Given the description of an element on the screen output the (x, y) to click on. 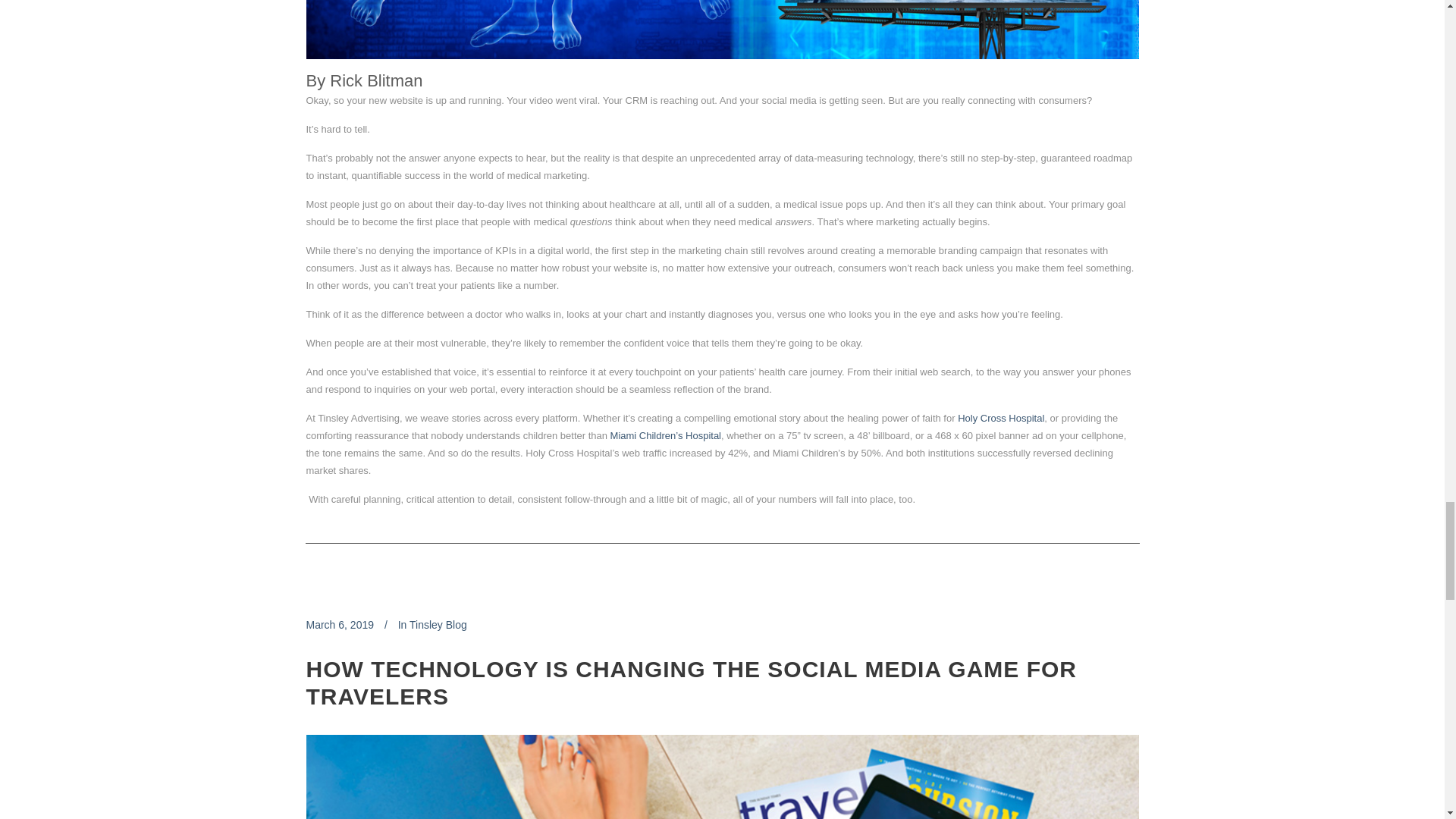
Tinsley Blog (438, 624)
Holy Cross Hospital (1000, 418)
